Given the description of an element on the screen output the (x, y) to click on. 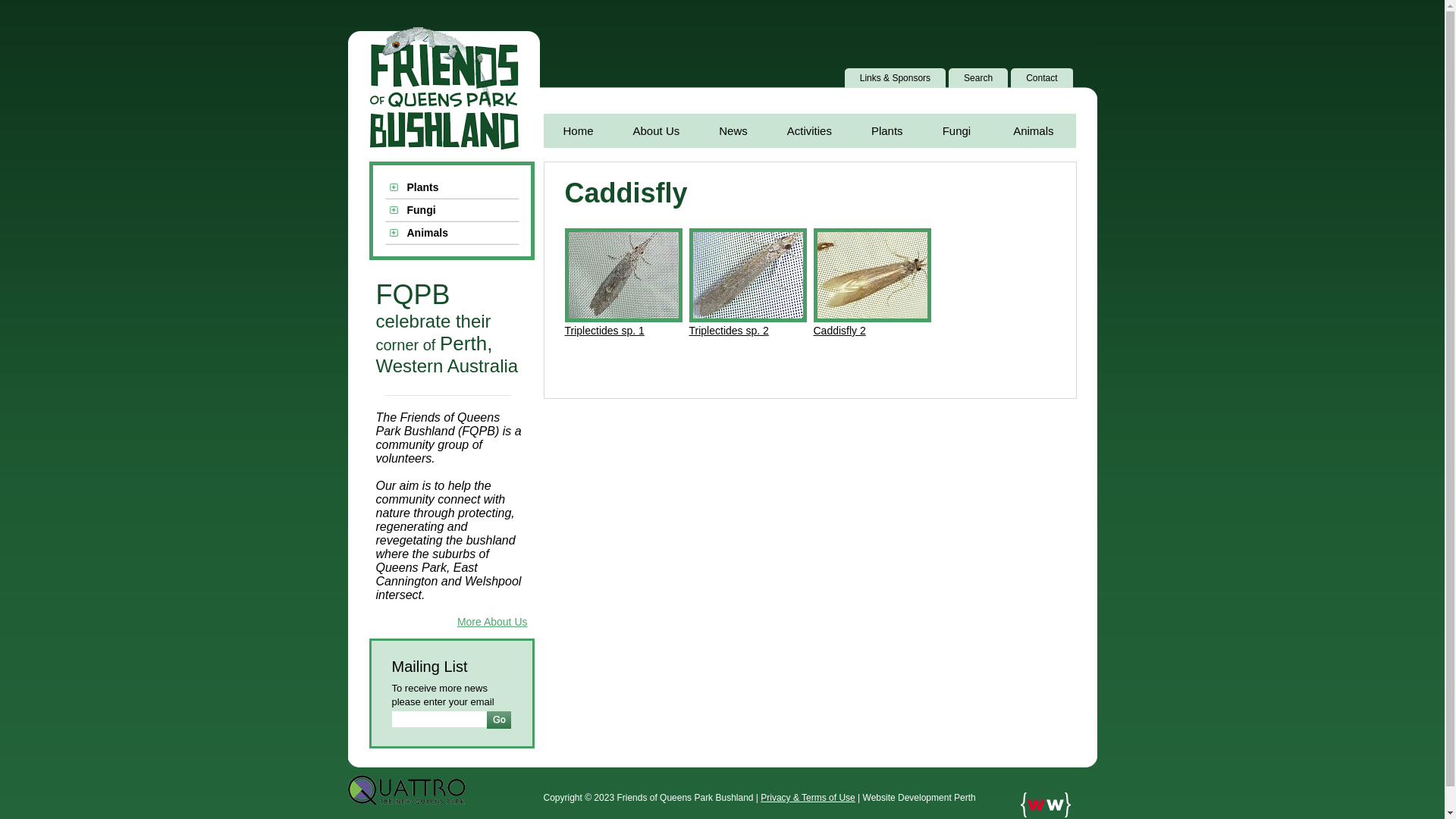
Fungi Element type: text (956, 130)
Quattro Element type: text (405, 789)
Privacy & Terms of Use Element type: text (807, 797)
Plants Element type: text (886, 130)
Search Element type: text (980, 77)
Triplectides sp. 2 Element type: text (728, 330)
Contact Element type: text (1044, 77)
Animals Element type: text (1033, 130)
News Element type: text (733, 130)
Animals Element type: text (451, 233)
Activities Element type: text (809, 130)
Friends of Queens Park Bushland Element type: text (443, 88)
More About Us Element type: text (492, 621)
Caddisfly 2 Element type: text (838, 330)
Fungi Element type: text (451, 210)
About Us Element type: text (656, 130)
Triplectides sp. 1 Element type: text (603, 330)
Plants Element type: text (451, 187)
Links & Sponsors Element type: text (897, 77)
Web Wizards Element type: hover (1045, 804)
Home Element type: text (577, 130)
